Given the description of an element on the screen output the (x, y) to click on. 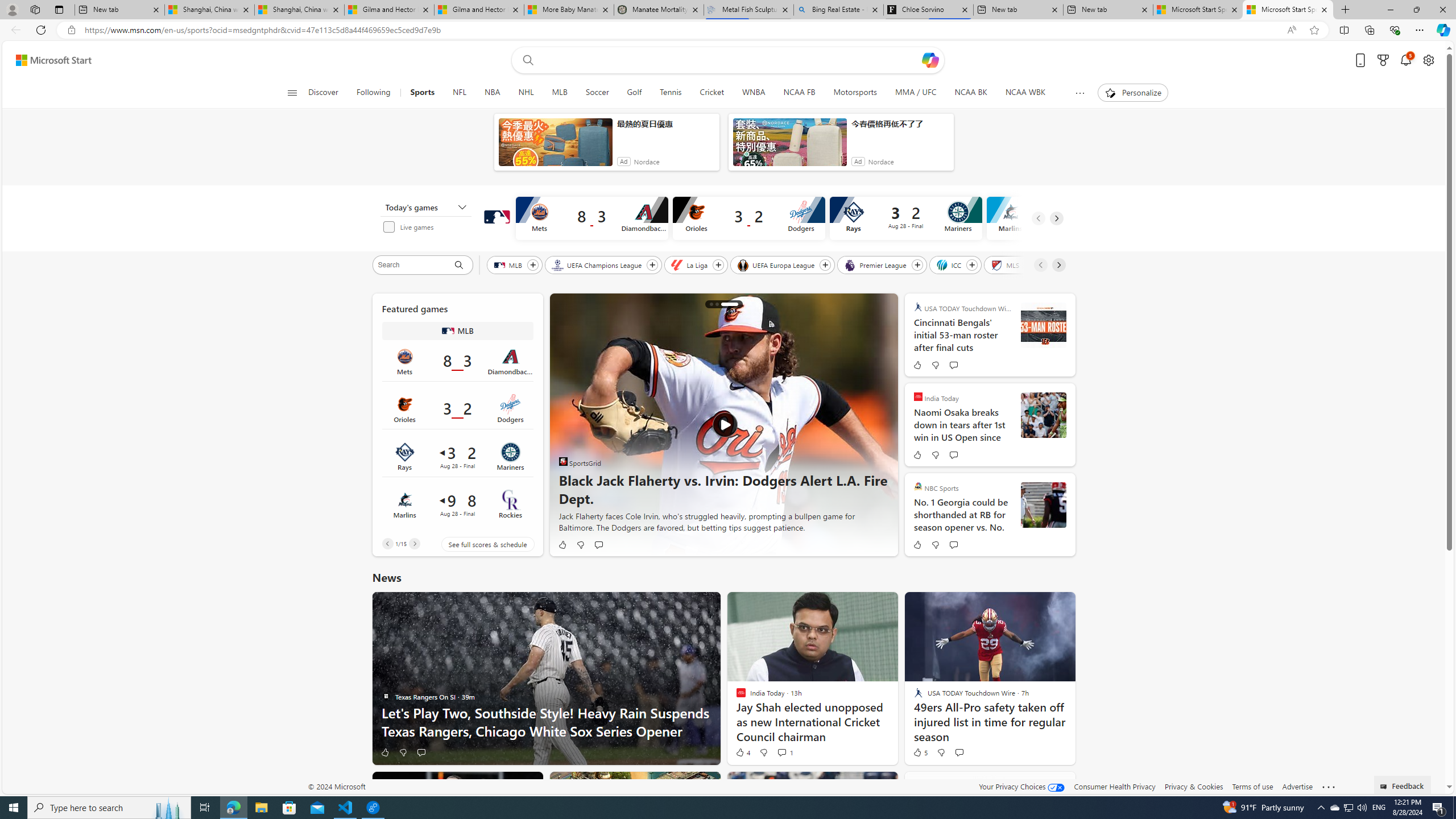
India Today (917, 396)
Like (384, 752)
View comments 1 Comment (784, 752)
Manatee Mortality Statistics | FWC (658, 9)
Enter your search term (730, 59)
Following (373, 92)
WNBA (753, 92)
See full scores & schedule (478, 544)
NCAA WBK (1024, 92)
